Given the description of an element on the screen output the (x, y) to click on. 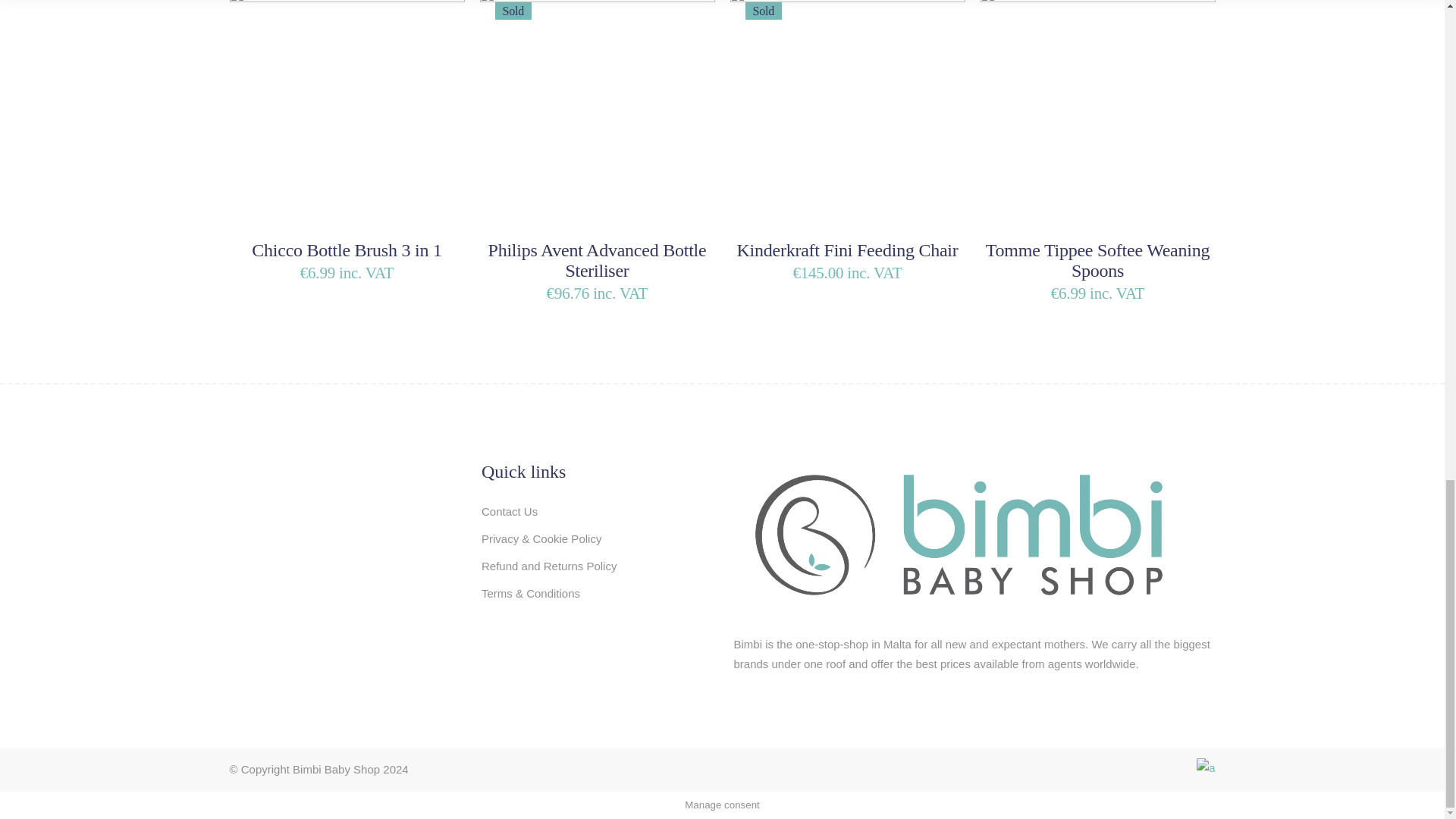
Philips Avent Advanced Bottle Steriliser (596, 260)
Kinderkraft Fini Feeding Chair (847, 250)
Chicco Bottle Brush 3 in 1 (346, 250)
